Given the description of an element on the screen output the (x, y) to click on. 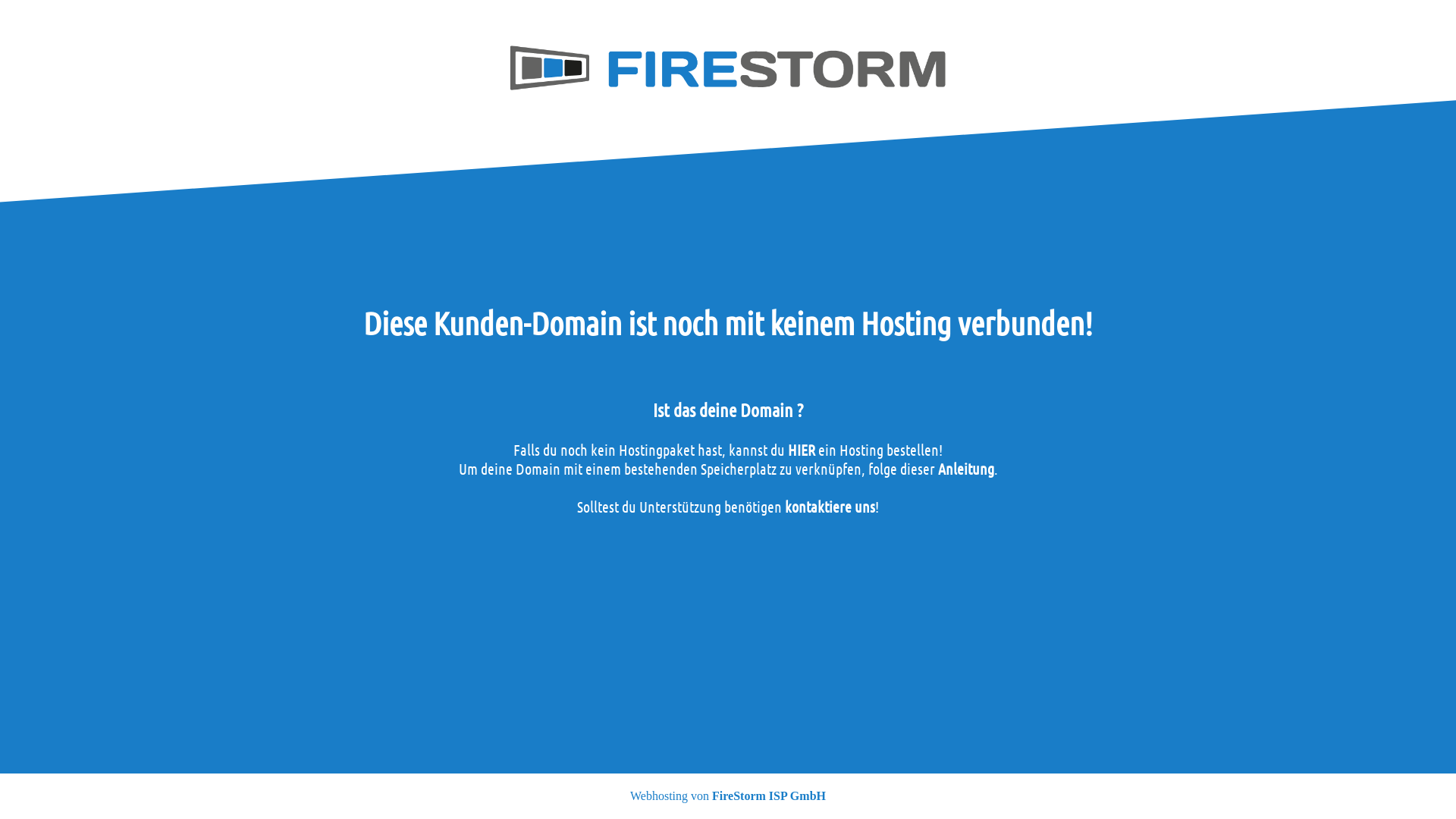
Anleitung Element type: text (965, 468)
FireStorm ISP GmbH Element type: text (768, 795)
HIER Element type: text (801, 449)
kontaktiere uns Element type: text (829, 506)
